Given the description of an element on the screen output the (x, y) to click on. 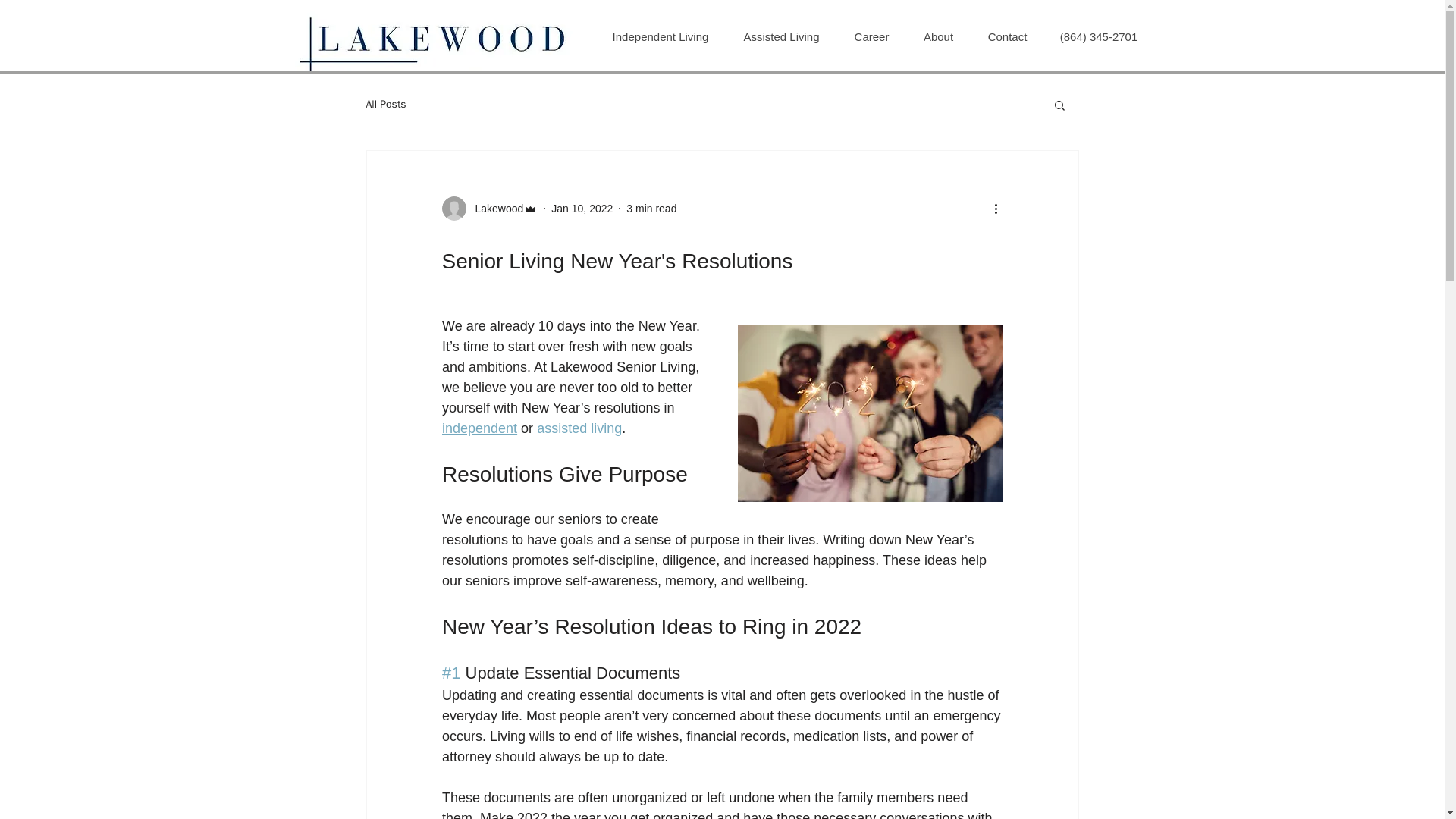
Career (871, 37)
Independent Living (660, 37)
About (937, 37)
3 min read (651, 207)
All Posts (385, 104)
Lakewood (493, 207)
assisted living (579, 427)
Contact (1007, 37)
independent (478, 427)
Assisted Living (780, 37)
Jan 10, 2022 (581, 207)
Lakewood (489, 208)
